Given the description of an element on the screen output the (x, y) to click on. 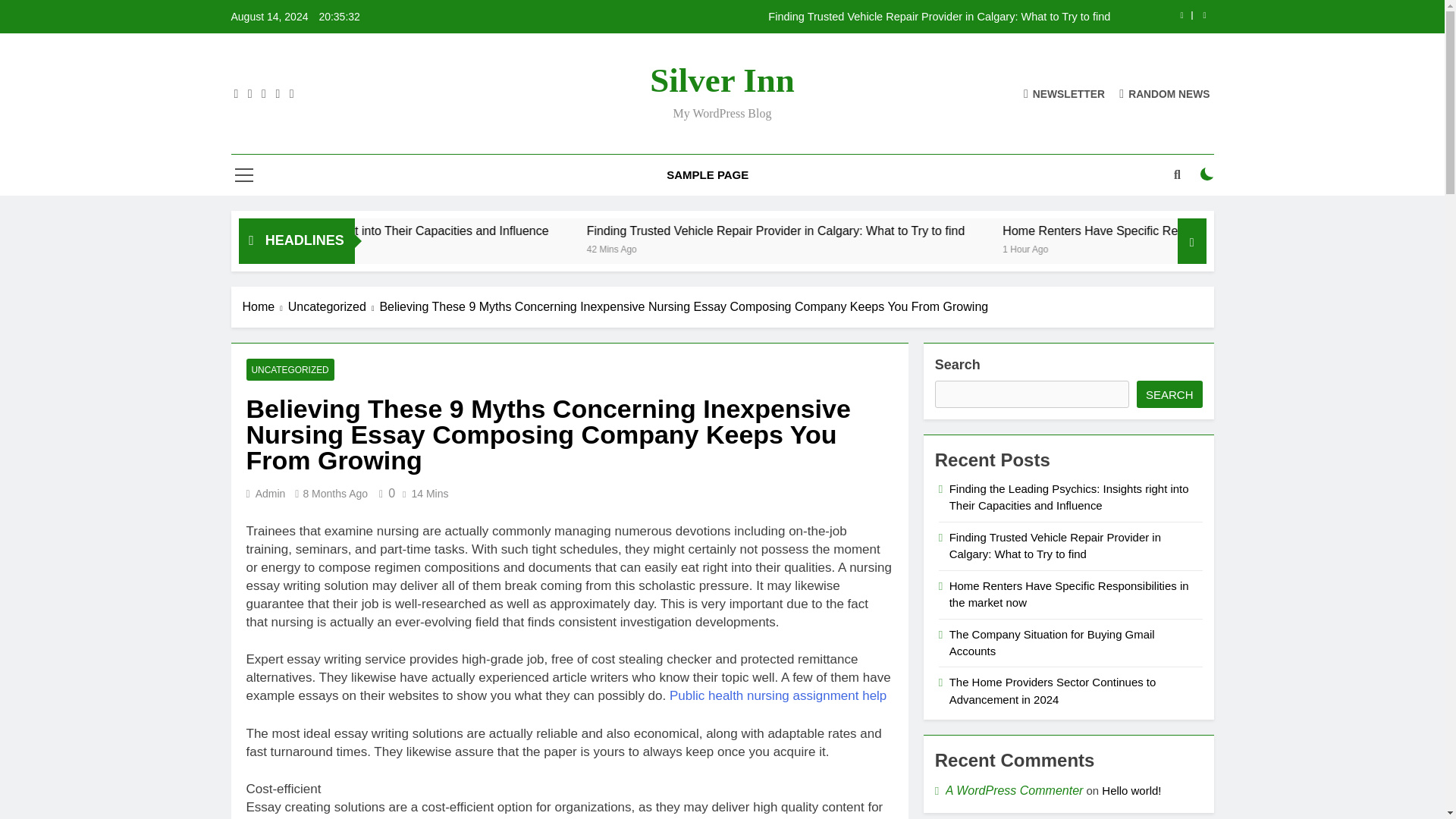
RANDOM NEWS (1164, 92)
SAMPLE PAGE (707, 174)
Silver Inn (721, 80)
on (1206, 173)
21 Mins Ago (356, 247)
42 Mins Ago (814, 247)
